Given the description of an element on the screen output the (x, y) to click on. 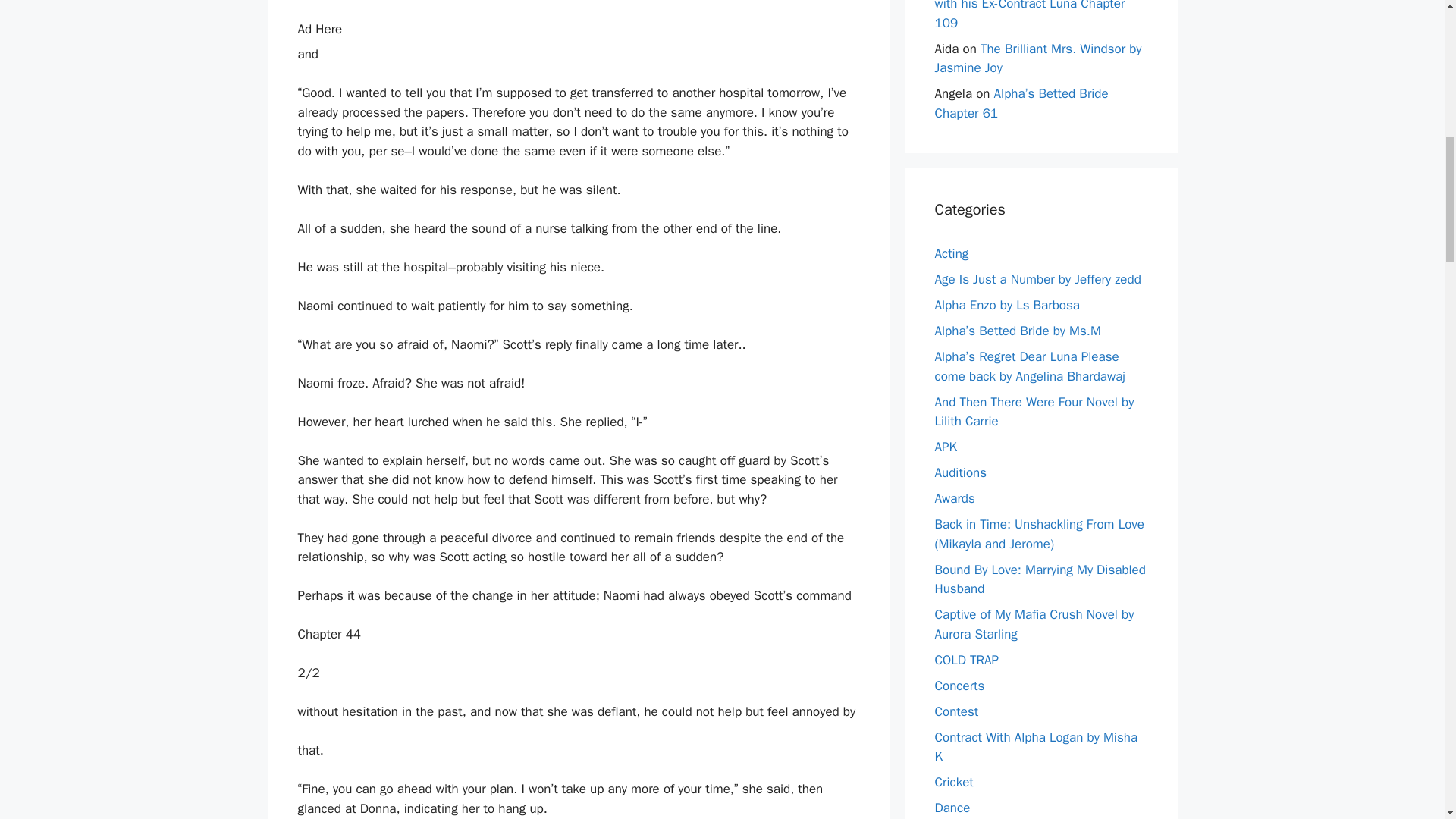
Acting (951, 253)
Age Is Just a Number by Jeffery zedd (1037, 279)
Alpha Enzo by Ls Barbosa (1007, 304)
The Brilliant Mrs. Windsor by Jasmine Joy (1037, 58)
And Then There Were Four Novel by Lilith Carrie (1034, 411)
APK (945, 446)
